Given the description of an element on the screen output the (x, y) to click on. 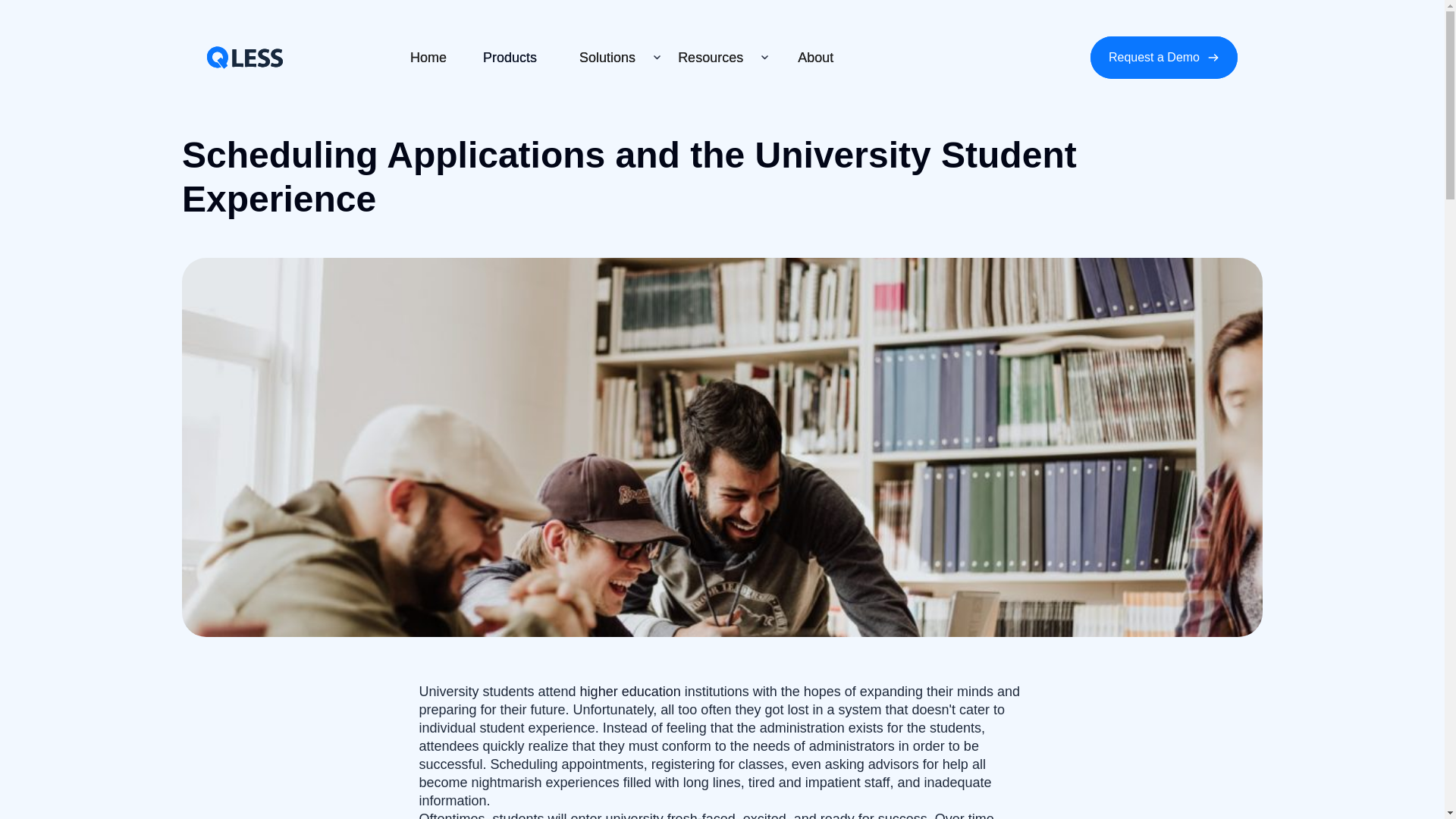
Request a Demo (1163, 57)
higher education (630, 691)
About (815, 57)
Home (427, 57)
Products (510, 57)
